Given the description of an element on the screen output the (x, y) to click on. 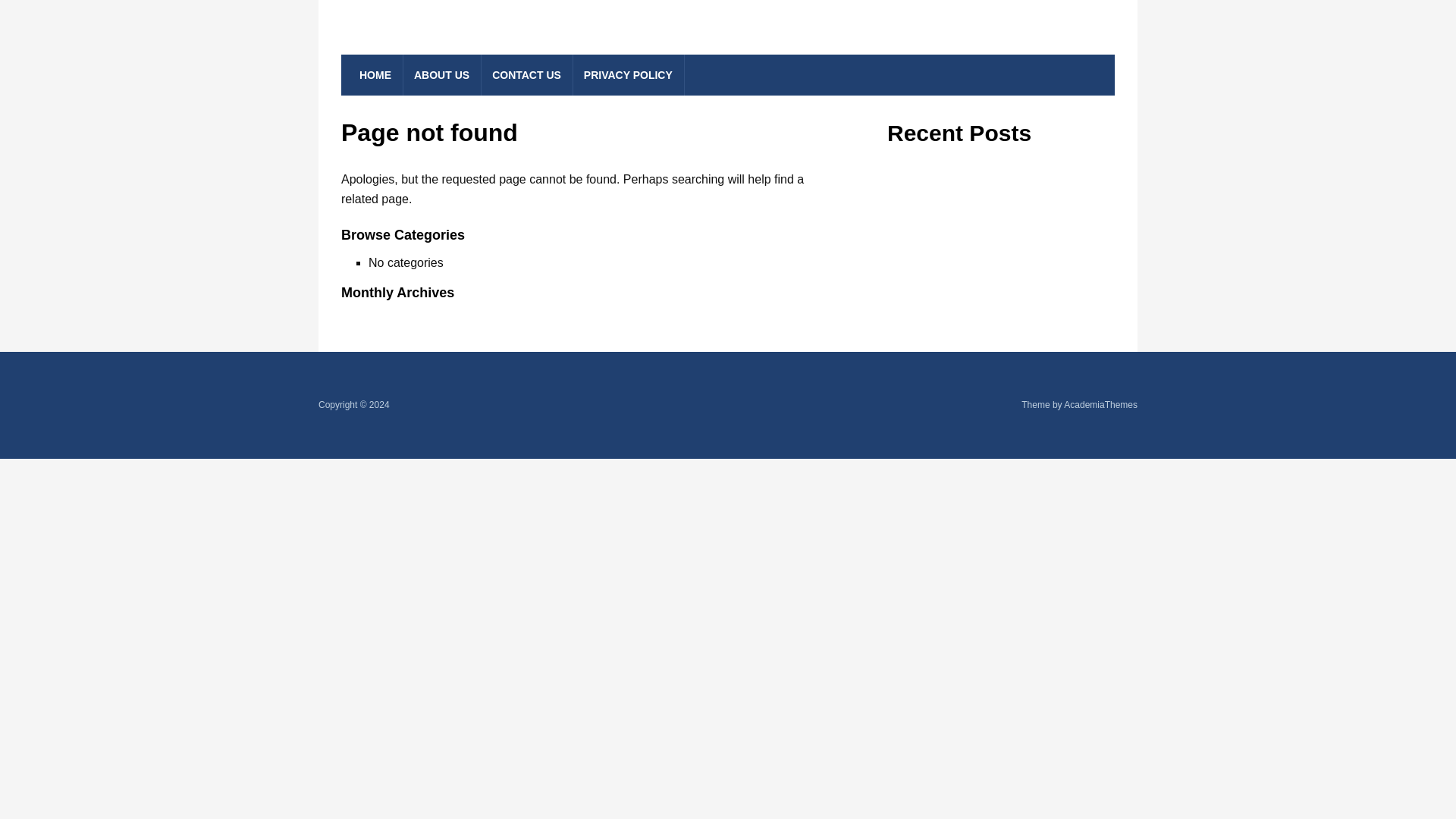
PRIVACY POLICY (628, 74)
ABOUT US (441, 74)
HOME (376, 74)
AcademiaThemes (1100, 404)
CONTACT US (526, 74)
